Given the description of an element on the screen output the (x, y) to click on. 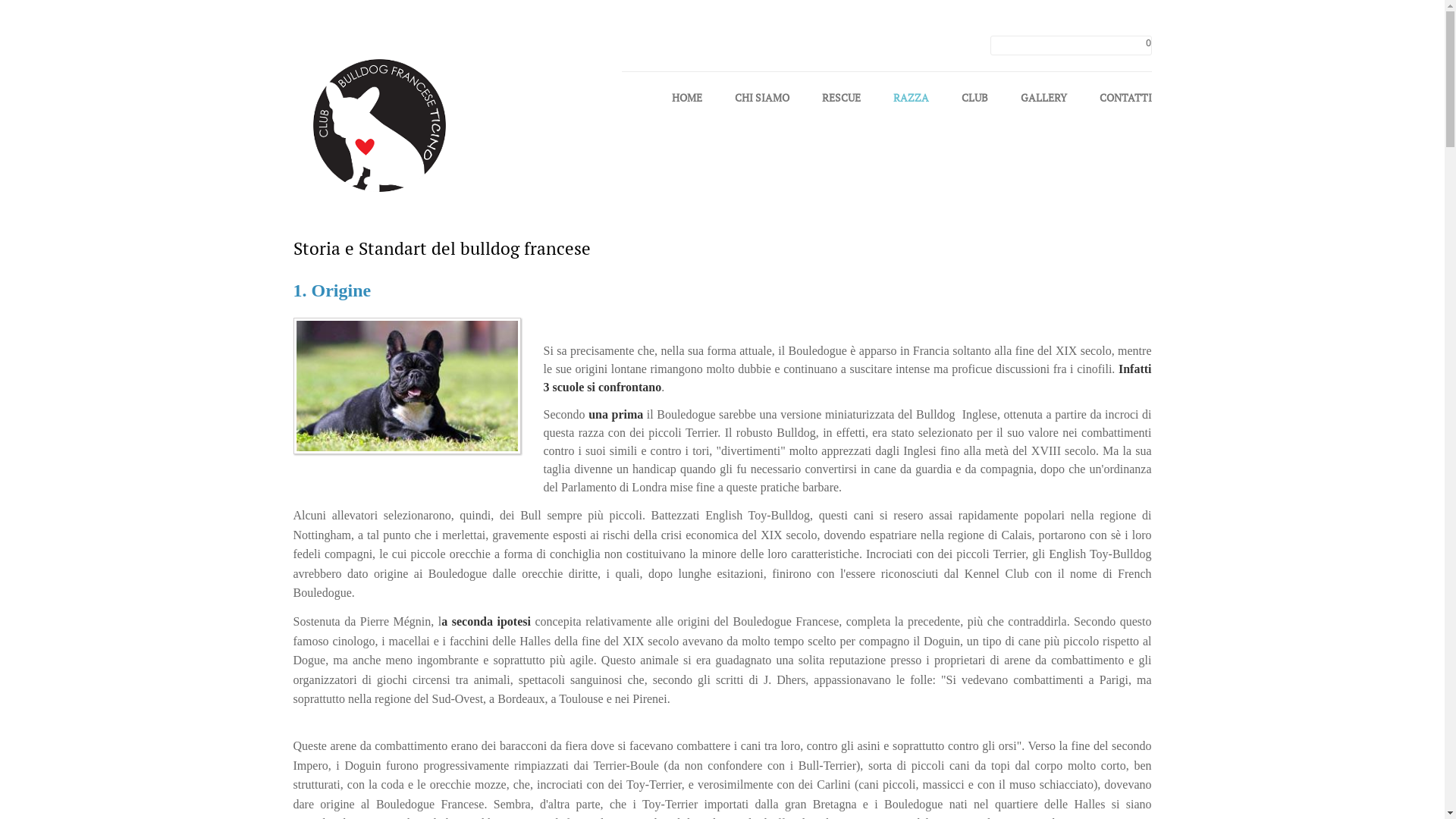
CHI SIAMO Element type: text (761, 103)
HOME Element type: text (686, 103)
RESCUE Element type: text (841, 103)
CLUB Element type: text (974, 103)
GALLERY Element type: text (1043, 103)
RAZZA Element type: text (910, 103)
CONTATTI Element type: text (1125, 103)
